Given the description of an element on the screen output the (x, y) to click on. 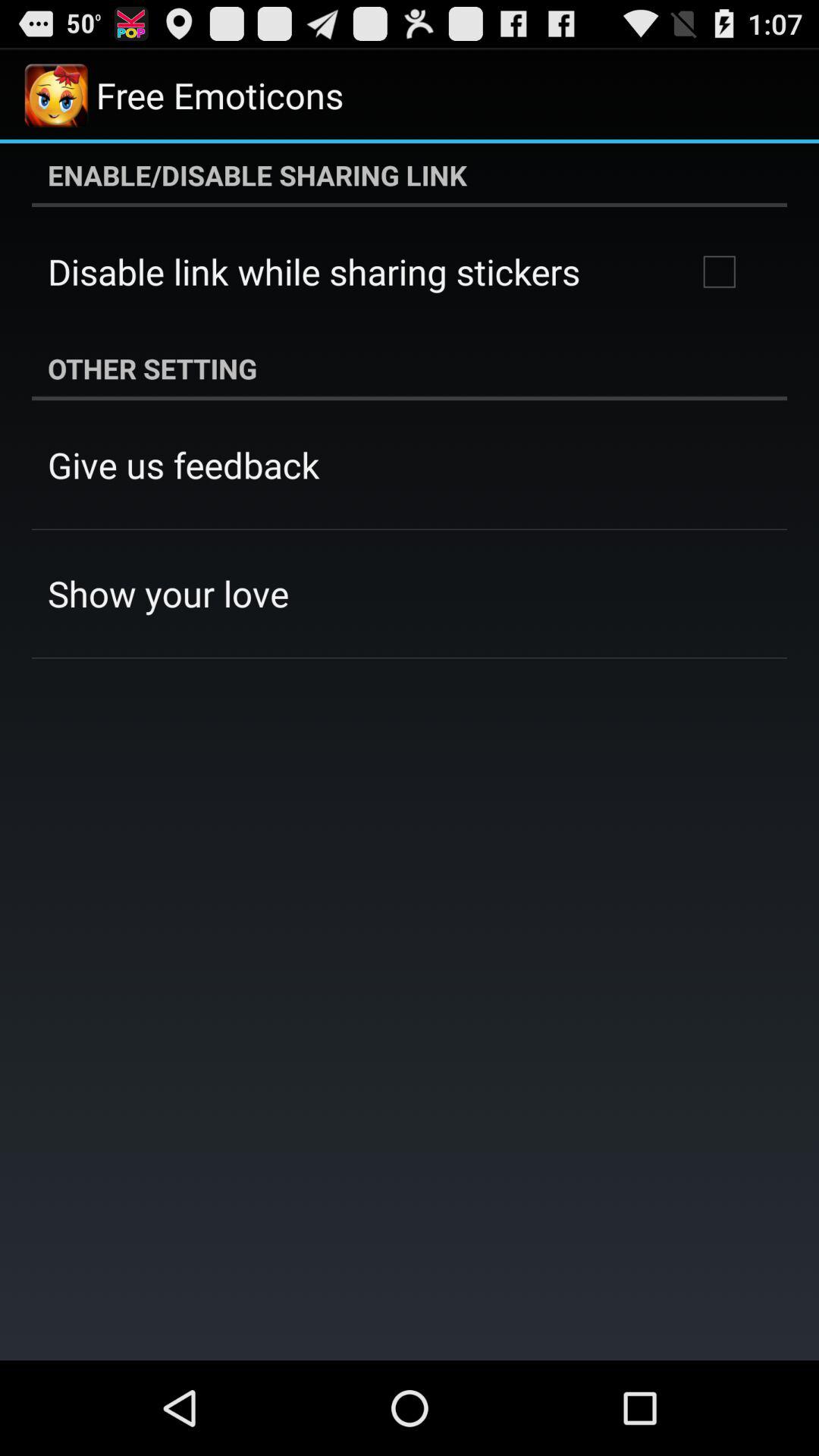
turn on app next to the disable link while (719, 271)
